Given the description of an element on the screen output the (x, y) to click on. 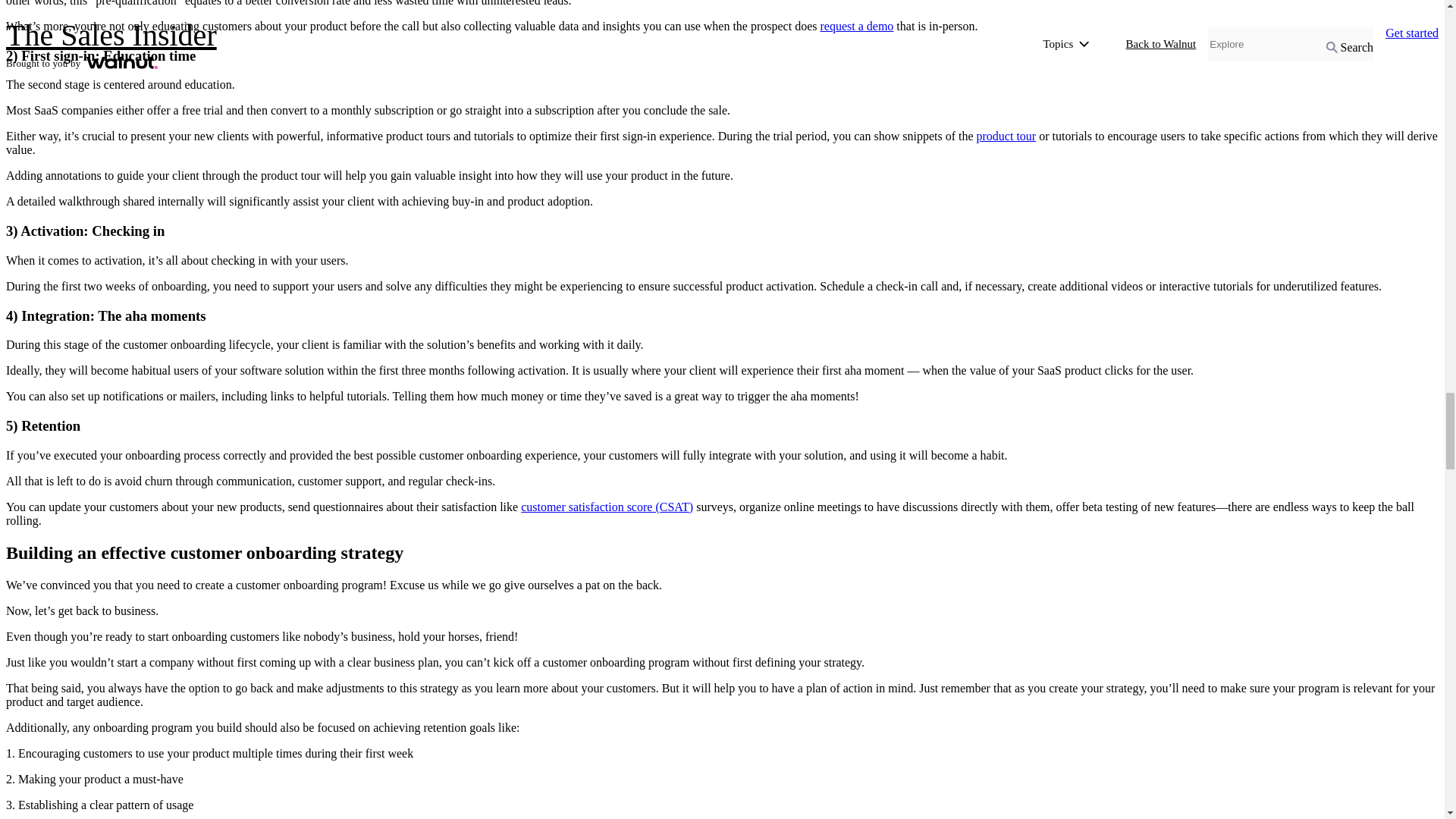
request a demo (856, 25)
